Given the description of an element on the screen output the (x, y) to click on. 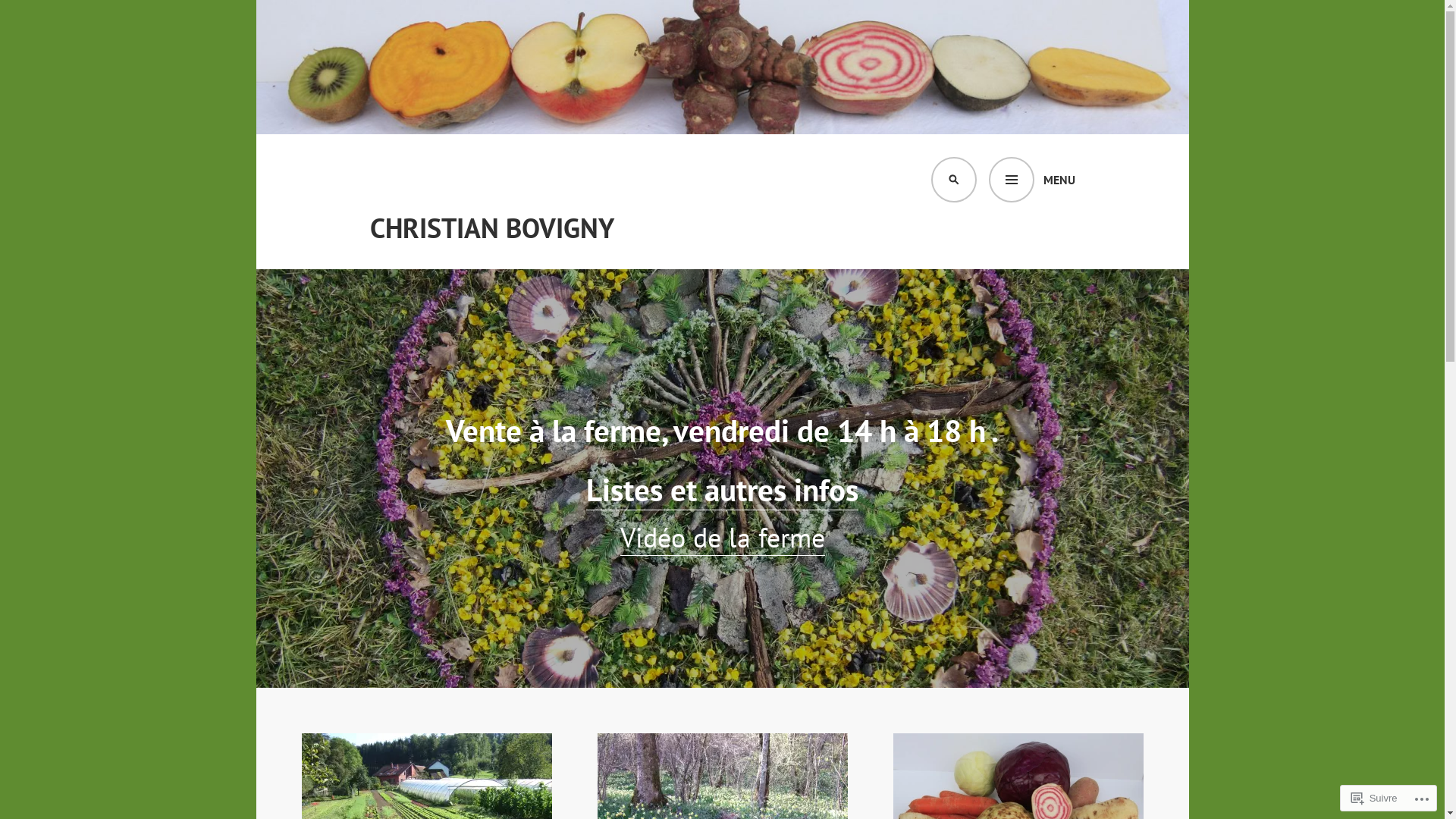
Listes et autres infos Element type: text (722, 489)
MENU Element type: text (1031, 179)
Suivre Element type: text (1374, 797)
CHRISTIAN BOVIGNY Element type: text (492, 228)
